Given the description of an element on the screen output the (x, y) to click on. 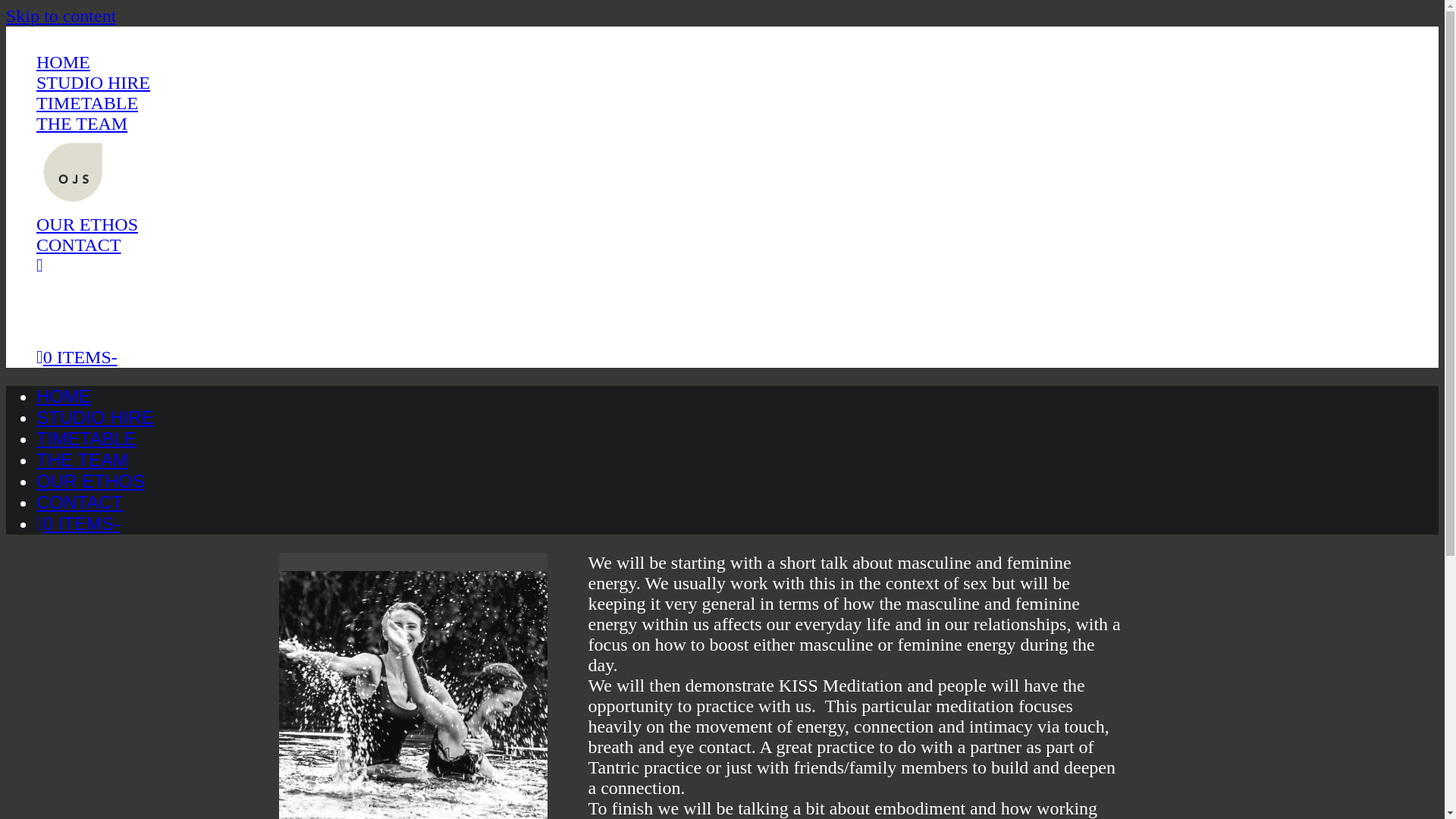
THE TEAM (82, 459)
HOME (63, 395)
OUR ETHOS (90, 480)
STUDIO HIRE (95, 417)
STUDIO HIRE (92, 82)
Skip to content (60, 15)
TIMETABLE (86, 438)
0 ITEMS- (77, 523)
CONTACT (78, 244)
THE TEAM (82, 123)
HOME (63, 62)
TIMETABLE (87, 103)
0 ITEMS- (76, 356)
CONTACT (79, 502)
OUR ETHOS (87, 224)
